Given the description of an element on the screen output the (x, y) to click on. 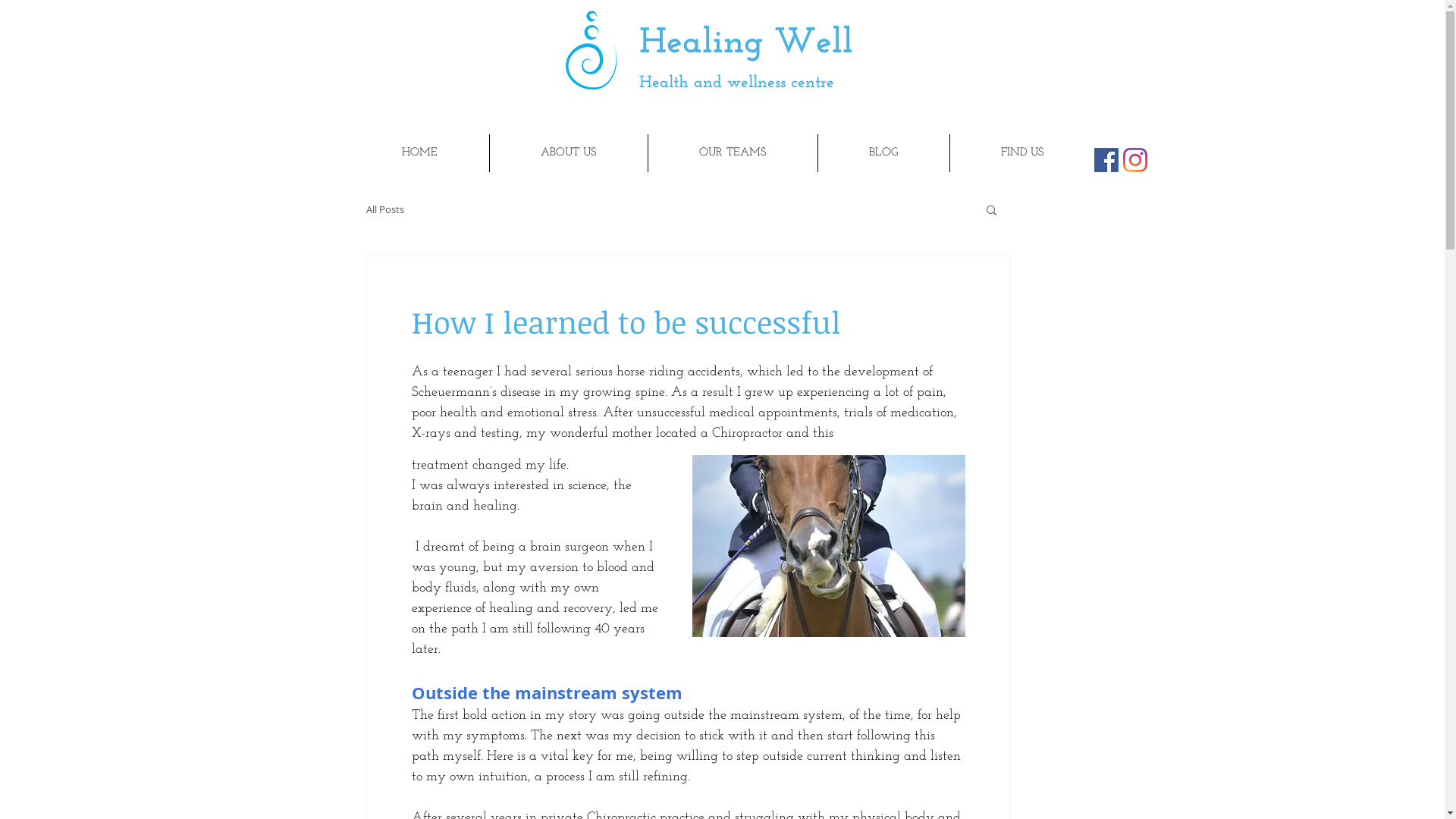
FIND US Element type: text (1021, 153)
ABOUT US Element type: text (568, 153)
BLOG Element type: text (882, 153)
HOME Element type: text (419, 153)
OUR TEAMS Element type: text (731, 153)
All Posts Element type: text (384, 209)
Healing Well Element type: text (745, 43)
